Given the description of an element on the screen output the (x, y) to click on. 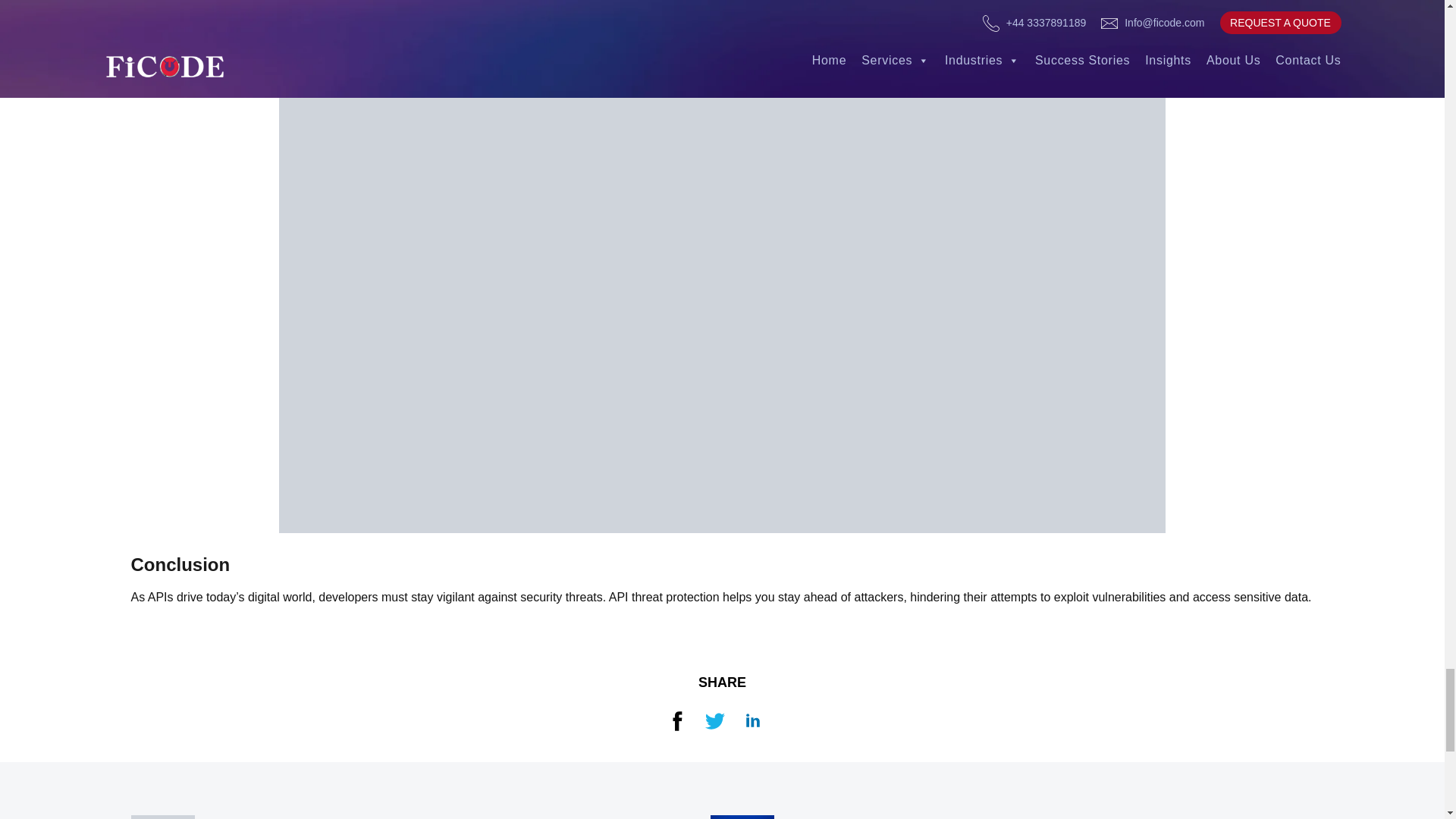
twitter (714, 717)
linkedin (752, 717)
Facebook (676, 717)
